Given the description of an element on the screen output the (x, y) to click on. 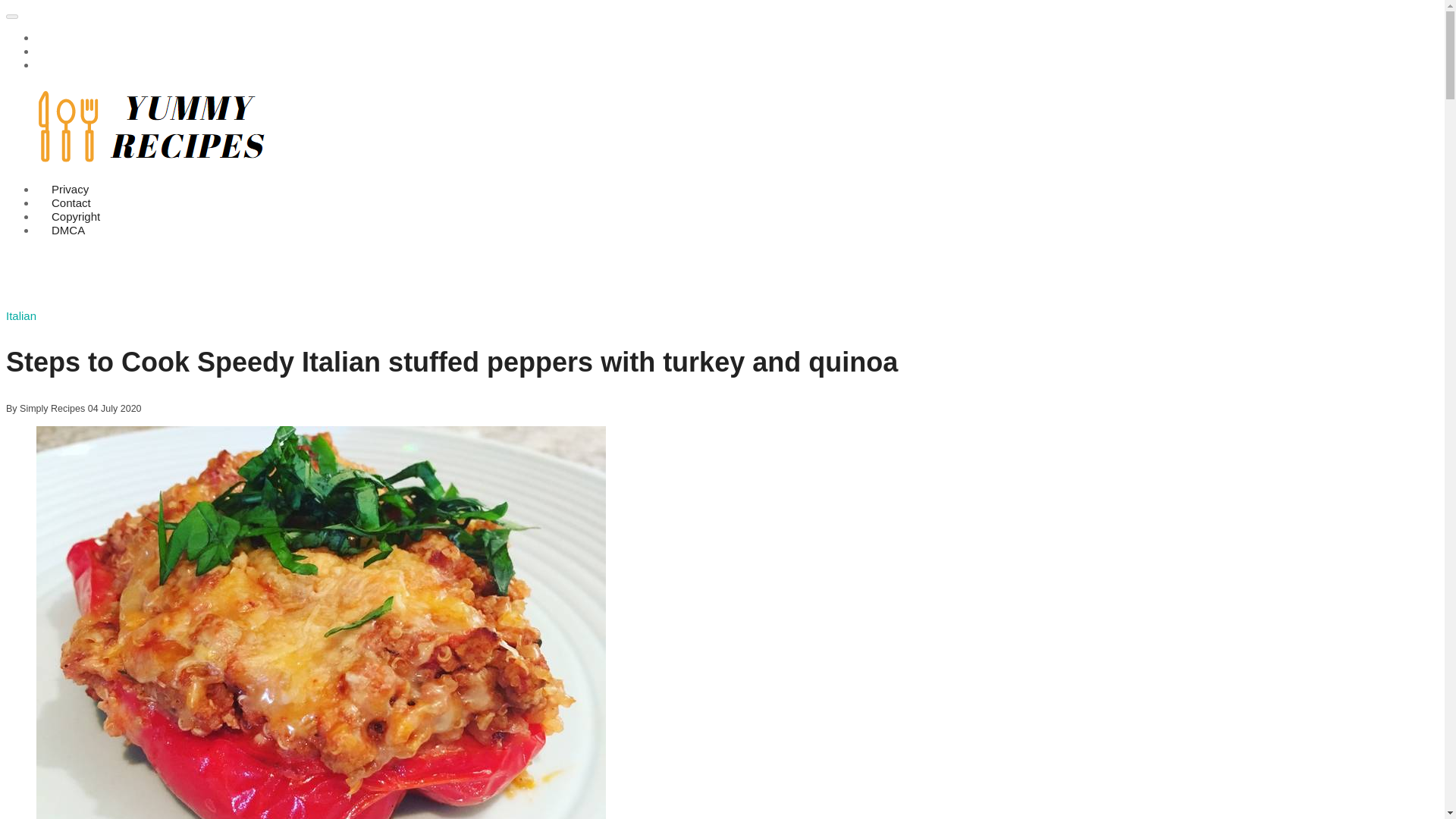
Copyright (75, 216)
Contact (71, 202)
DMCA (68, 229)
Italian (20, 315)
Privacy (69, 188)
